Given the description of an element on the screen output the (x, y) to click on. 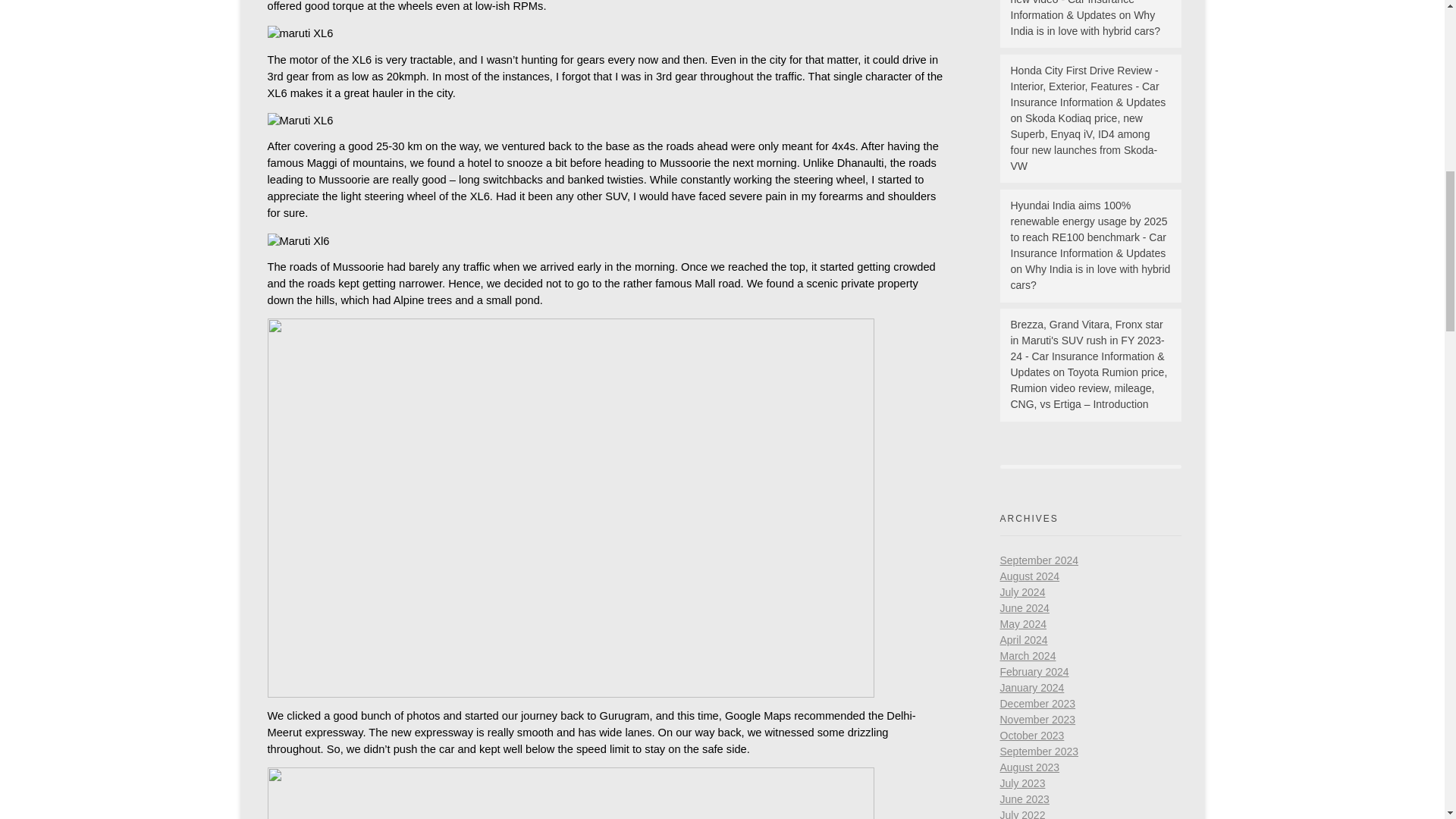
August 2024 (1028, 576)
September 2024 (1038, 560)
Why India is in love with hybrid cars? (1090, 276)
Why India is in love with hybrid cars? (1085, 22)
